Given the description of an element on the screen output the (x, y) to click on. 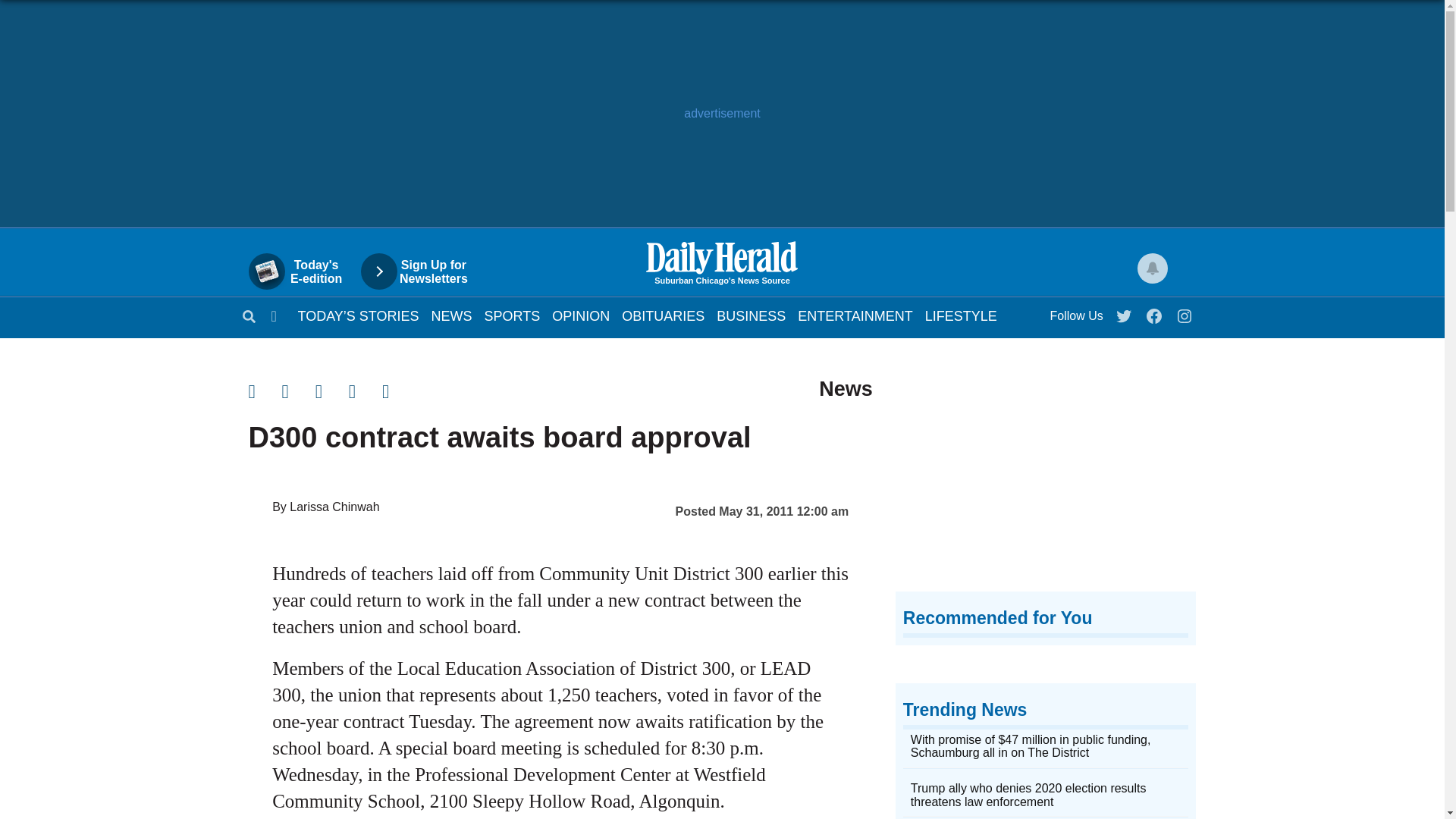
SPORTS (512, 315)
Share via Email (332, 391)
OPINION (580, 315)
Sports (512, 315)
Instagram (1184, 312)
Twitter (1124, 312)
NEWS (450, 315)
Sign Up for Newsletters (421, 271)
ENTERTAINMENT (854, 315)
Obituaries (662, 315)
Lifestyle (960, 315)
BUSINESS (751, 315)
Entertainment (854, 315)
Facebook (303, 271)
